Given the description of an element on the screen output the (x, y) to click on. 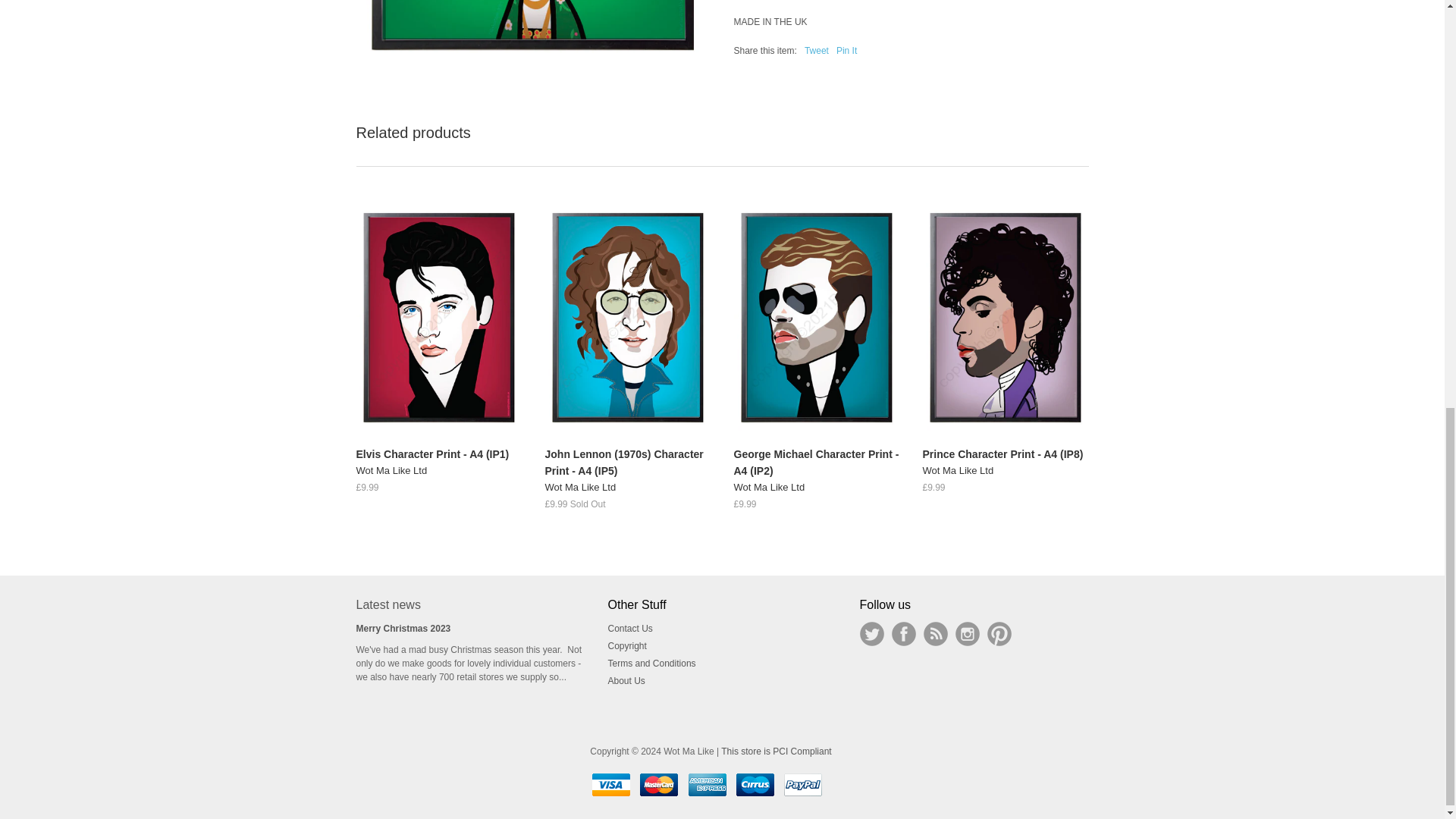
Copyright (627, 645)
About Us (626, 680)
Terms and Conditions (651, 663)
Contact Us (630, 628)
Wot Ma Like  on Pinterest (999, 633)
Wot Ma Like  on Instagram (967, 633)
Wot Ma Like  on Twitter (871, 633)
Wot Ma Like  news (935, 633)
Wot Ma Like  on Facebook (903, 633)
